Given the description of an element on the screen output the (x, y) to click on. 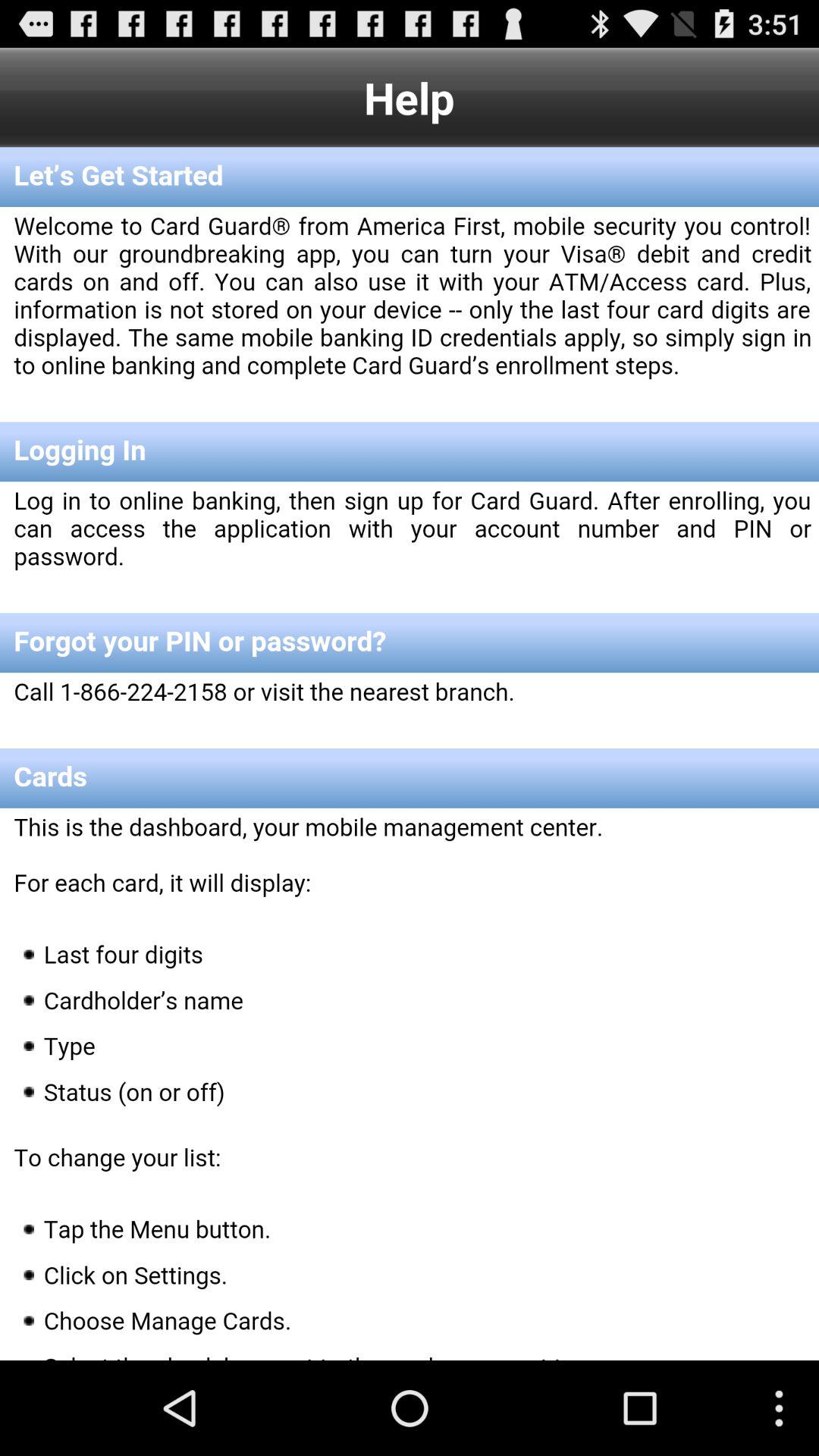
text page (409, 753)
